Given the description of an element on the screen output the (x, y) to click on. 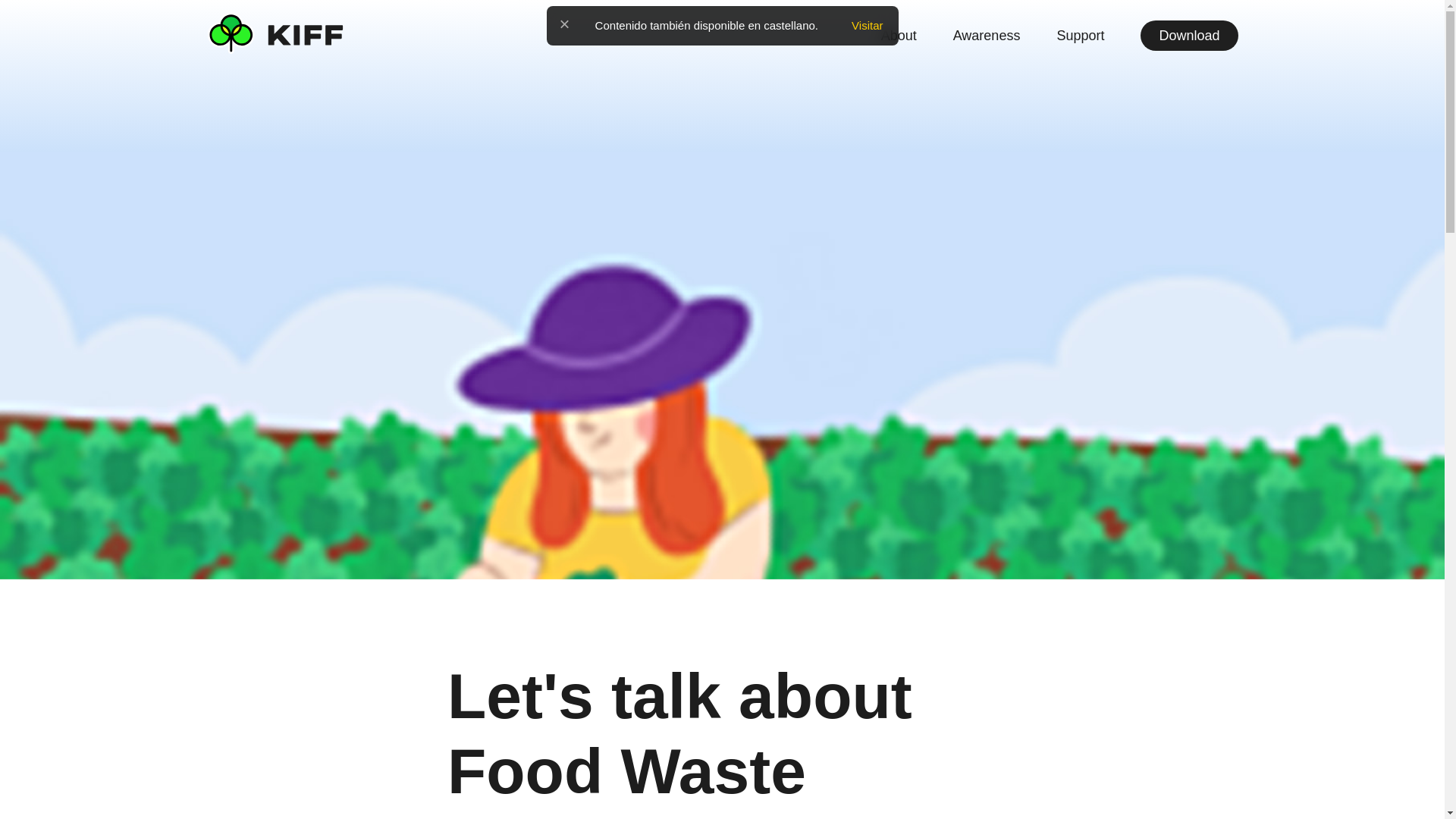
Support (1080, 35)
Download (1188, 35)
Visitar (867, 25)
Awareness (986, 35)
About (898, 35)
Visitar (867, 25)
